Given the description of an element on the screen output the (x, y) to click on. 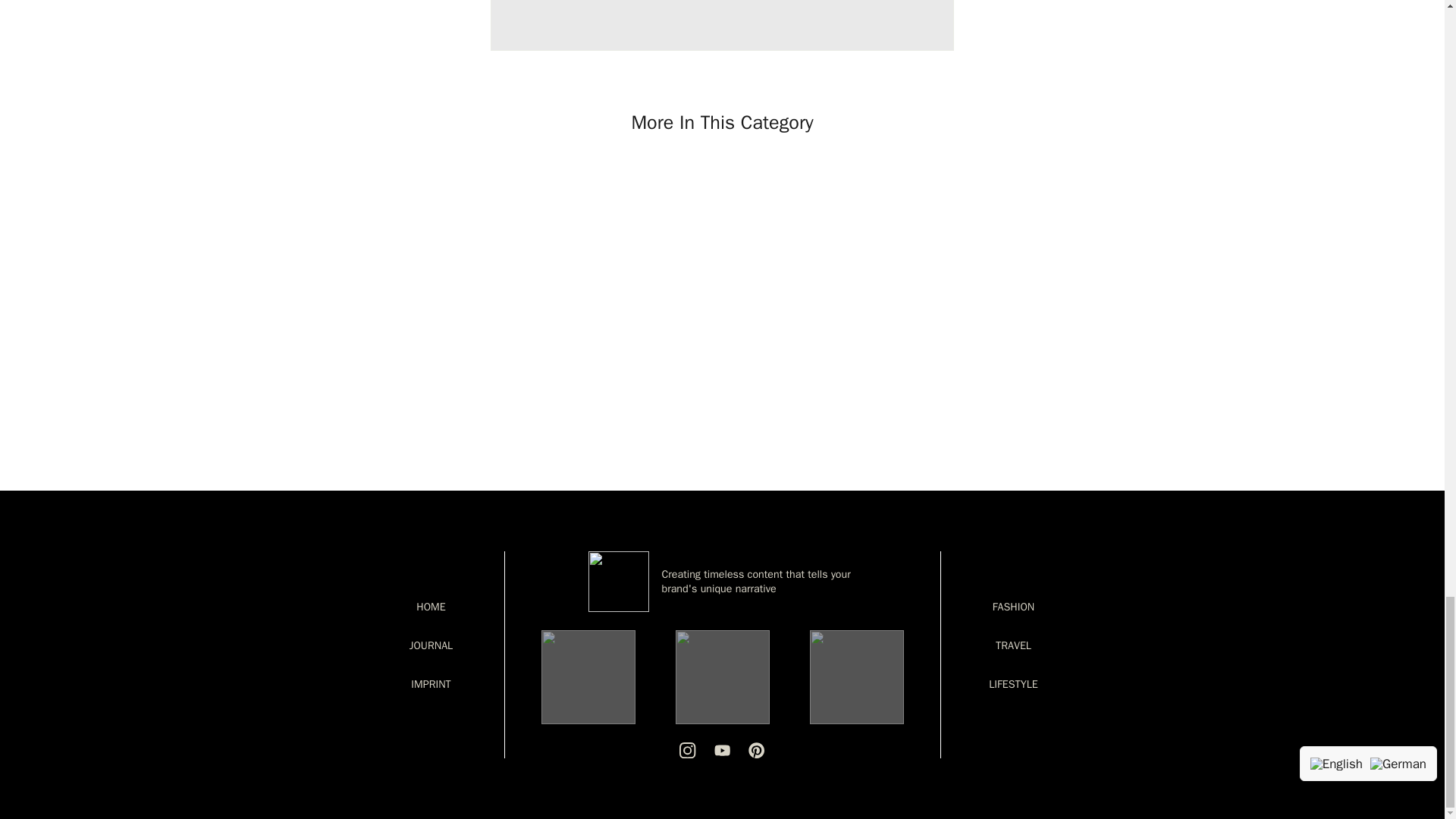
feed-styleappetite-2 (721, 676)
feed-styleappetite-1 (587, 676)
feed-styleappetite-3 (856, 676)
styleappetiteLogoSVG (618, 581)
